Given the description of an element on the screen output the (x, y) to click on. 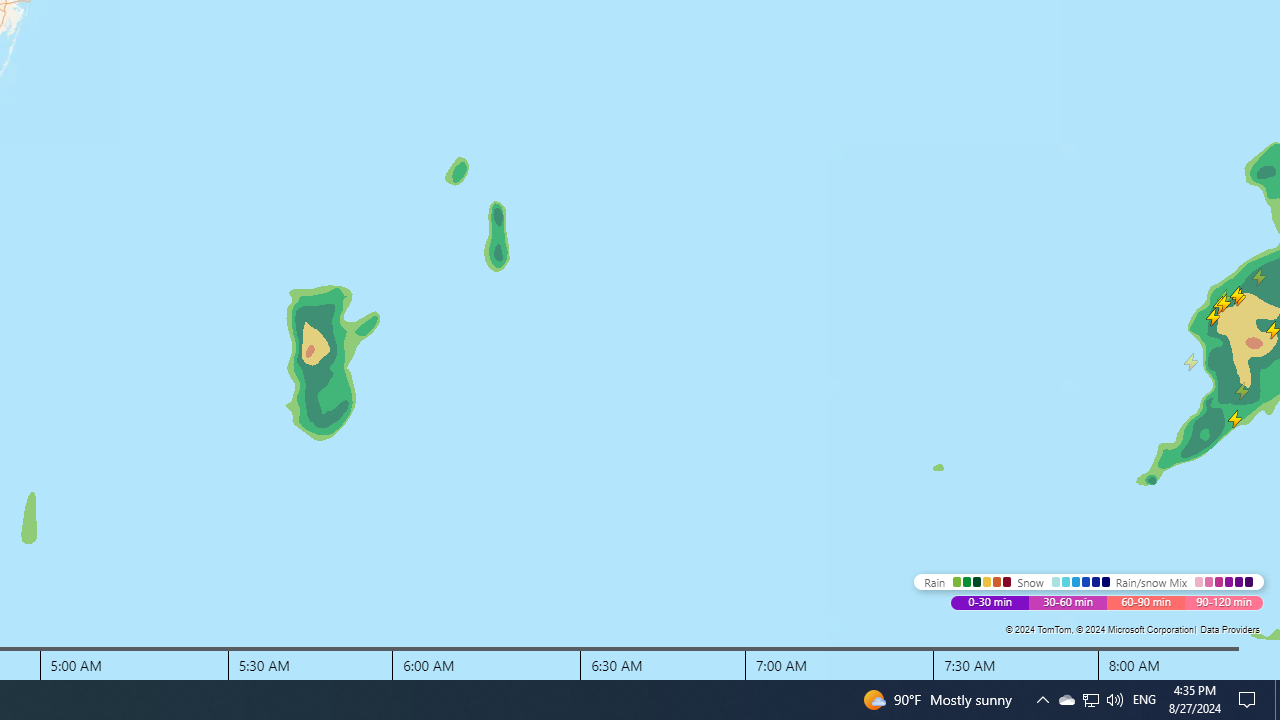
Tray Input Indicator - English (United States) (1144, 699)
User Promoted Notification Area (1090, 699)
Show desktop (1277, 699)
Notification Chevron (1042, 699)
Action Center, No new notifications (1250, 699)
Q2790: 100% (1066, 699)
